Given the description of an element on the screen output the (x, y) to click on. 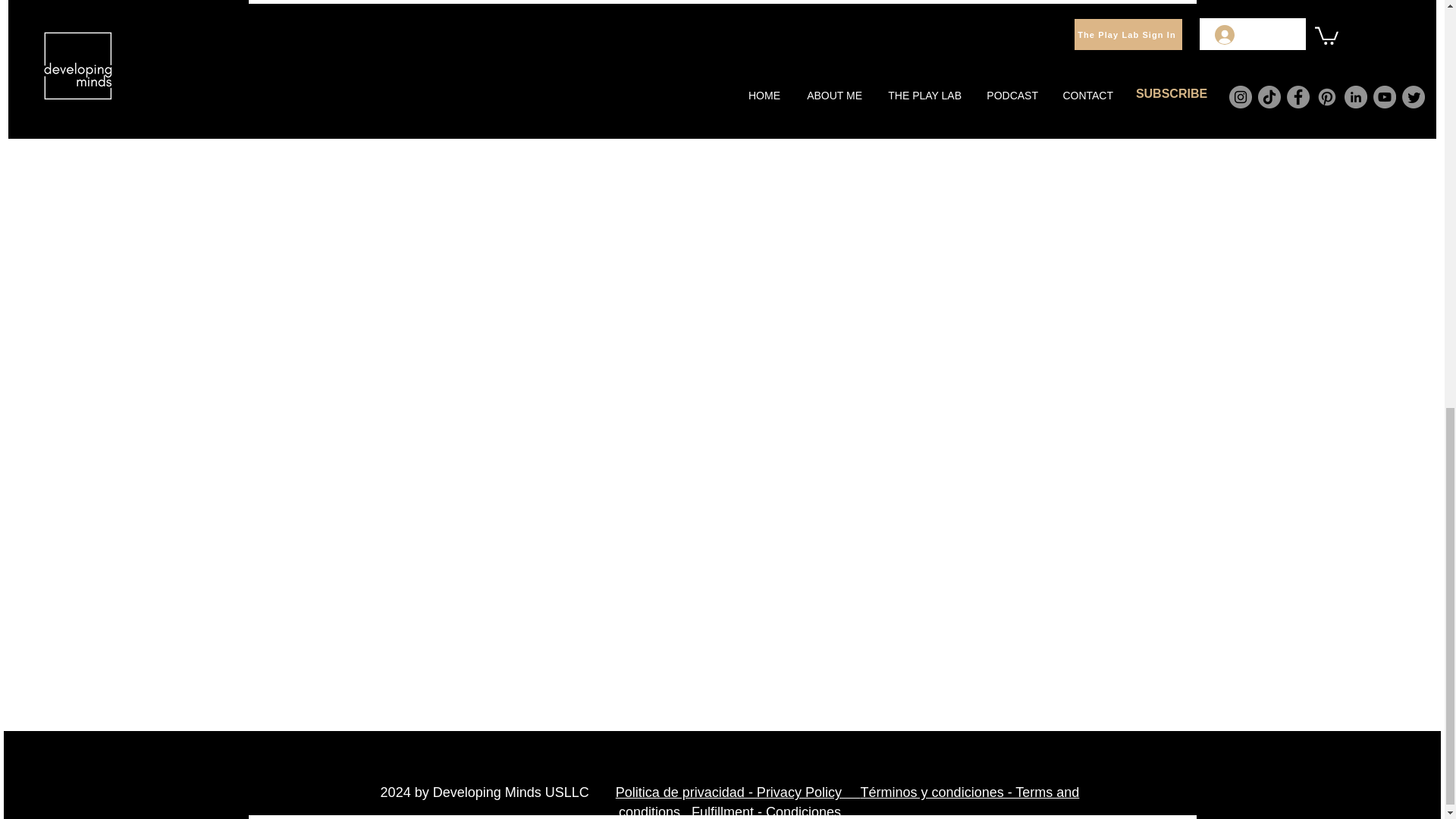
Fulfillment - Condiciones (766, 811)
Politica de privacidad - Privacy Policy      (737, 792)
